Given the description of an element on the screen output the (x, y) to click on. 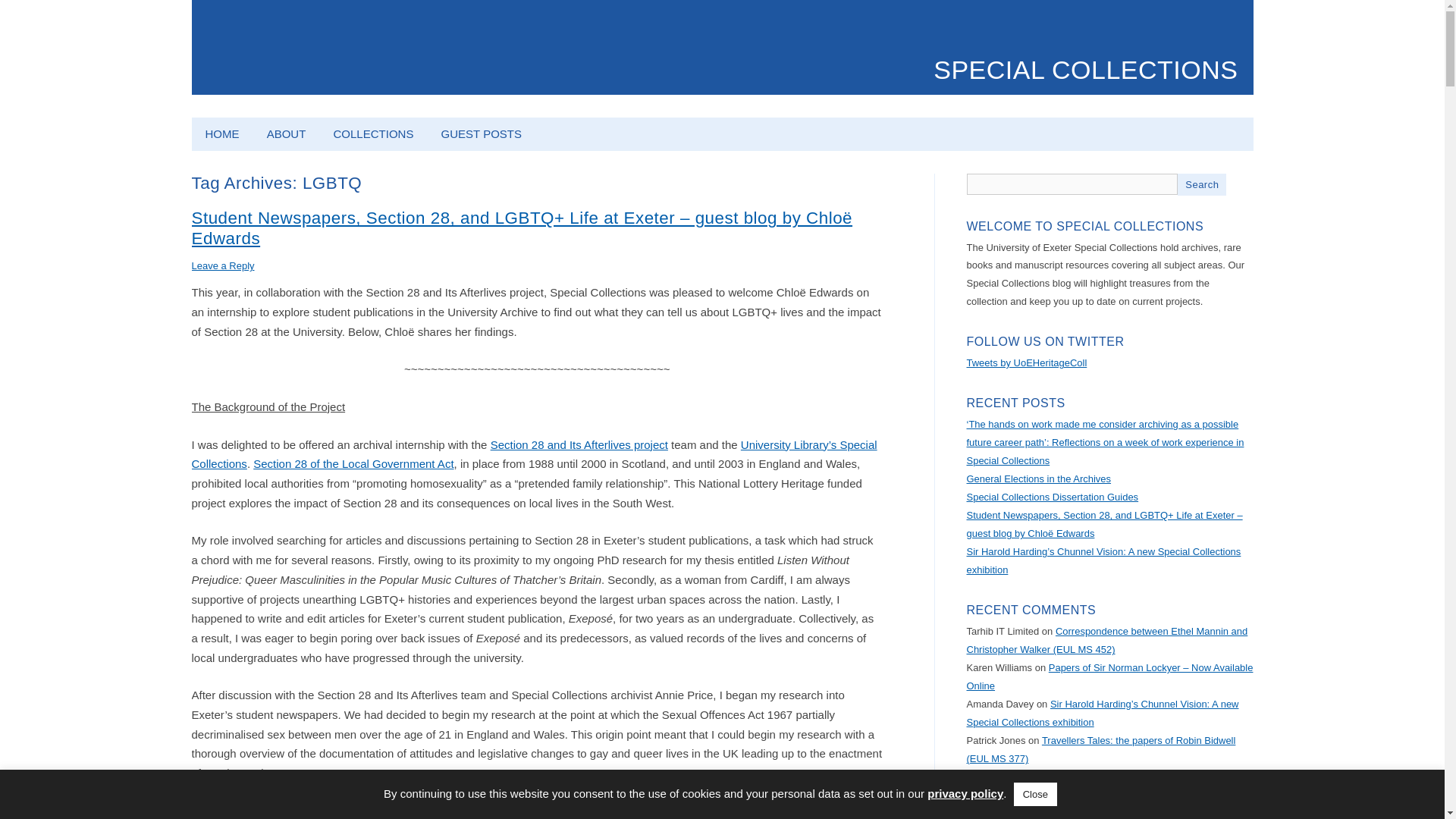
Search (1201, 183)
SPECIAL COLLECTIONS (1085, 69)
Tweets by UoEHeritageColl (1026, 362)
COLLECTIONS (374, 133)
Section 28 and Its Afterlives project (579, 444)
Leave a Reply (221, 265)
GUEST POSTS (481, 133)
HOME (220, 133)
